Given the description of an element on the screen output the (x, y) to click on. 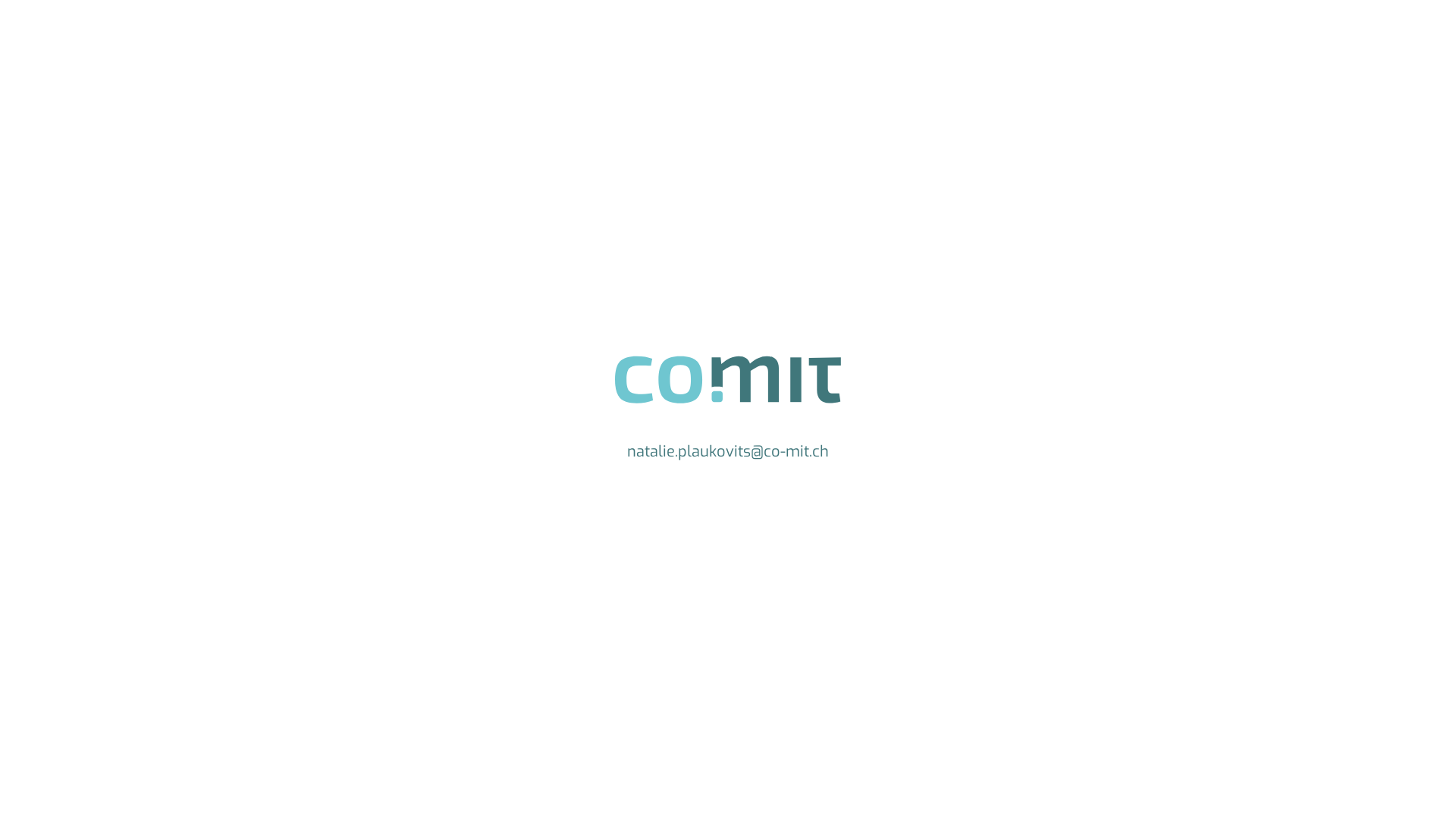
natalie.plaukovits@co-mit.ch Element type: text (727, 451)
